Given the description of an element on the screen output the (x, y) to click on. 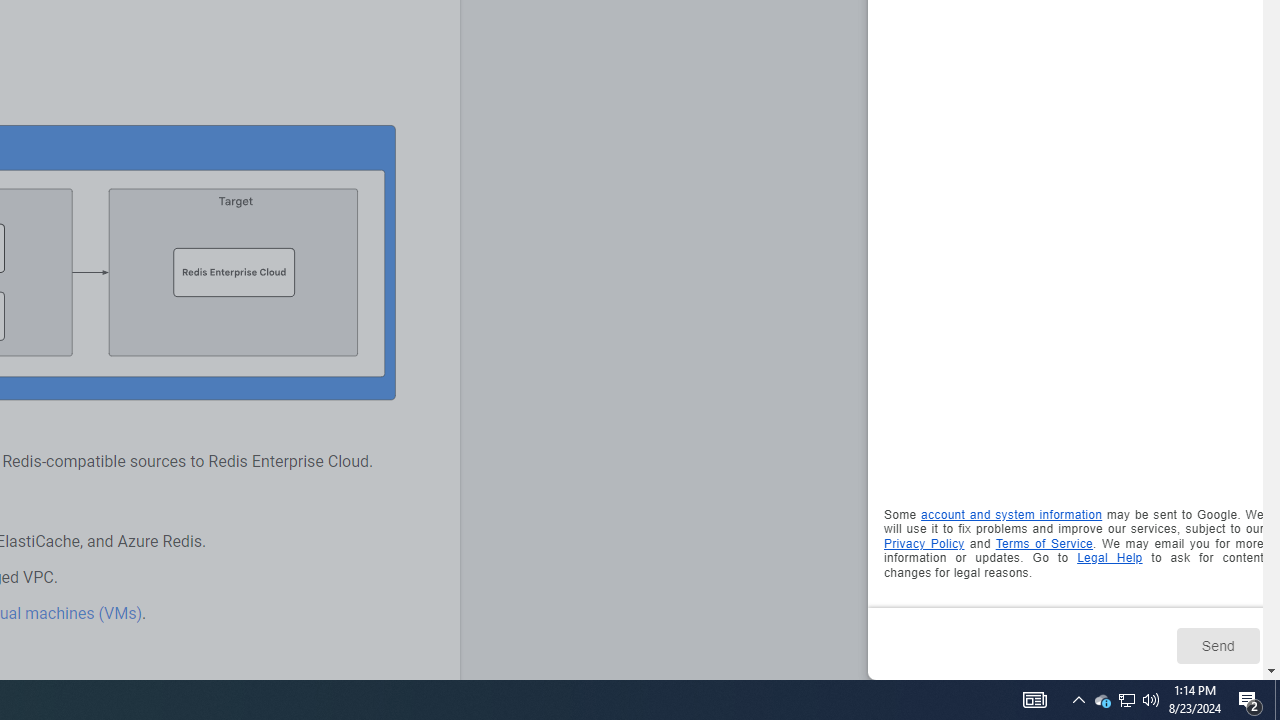
Opens in a new tab. Terms of Service (1044, 542)
Send (1217, 645)
Opens in a new tab. Legal Help (1109, 557)
account and system information (1012, 515)
Opens in a new tab. Privacy Policy (924, 542)
